Given the description of an element on the screen output the (x, y) to click on. 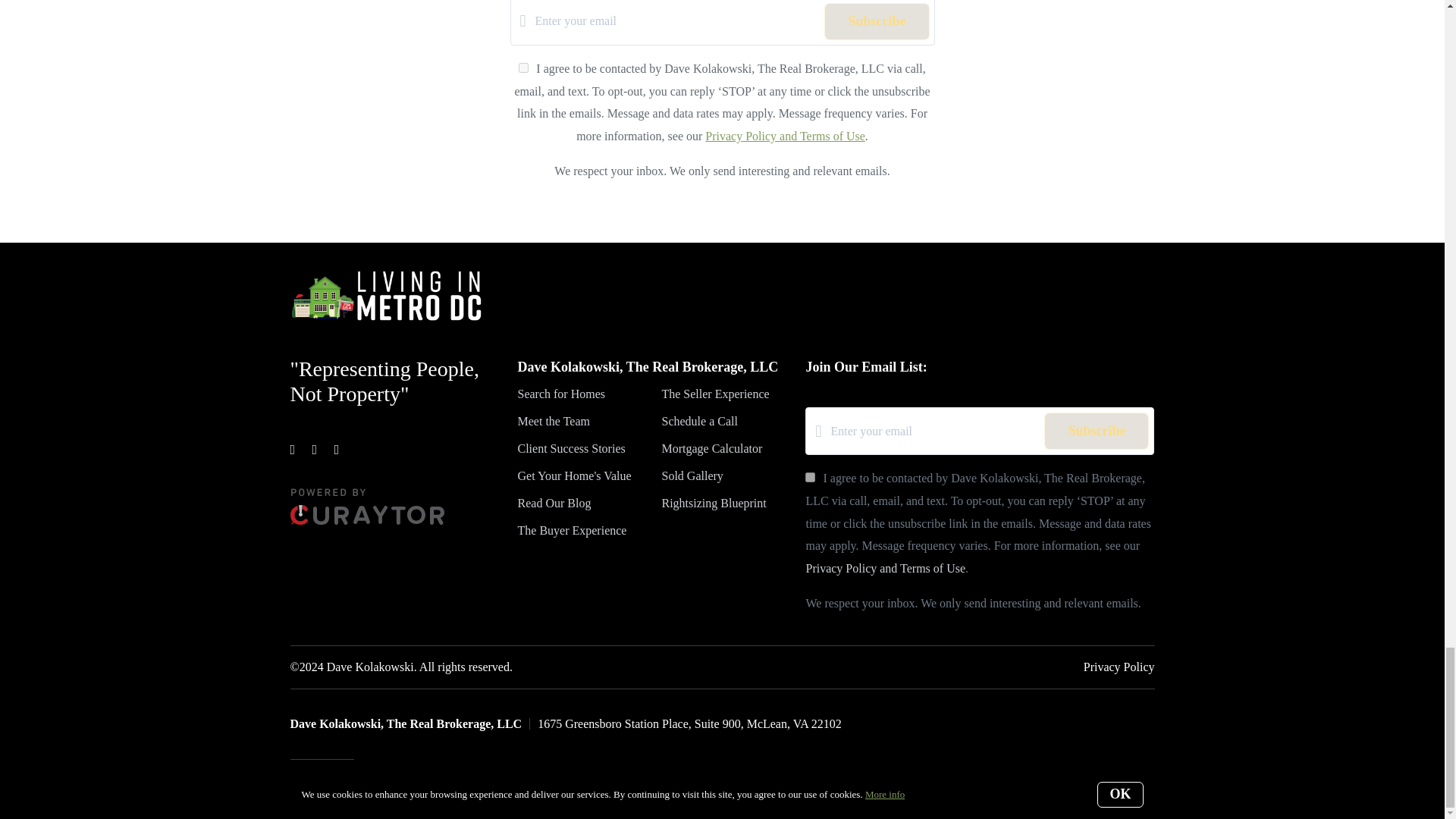
on (523, 67)
on (810, 477)
curaytor-horizontal (366, 506)
